Given the description of an element on the screen output the (x, y) to click on. 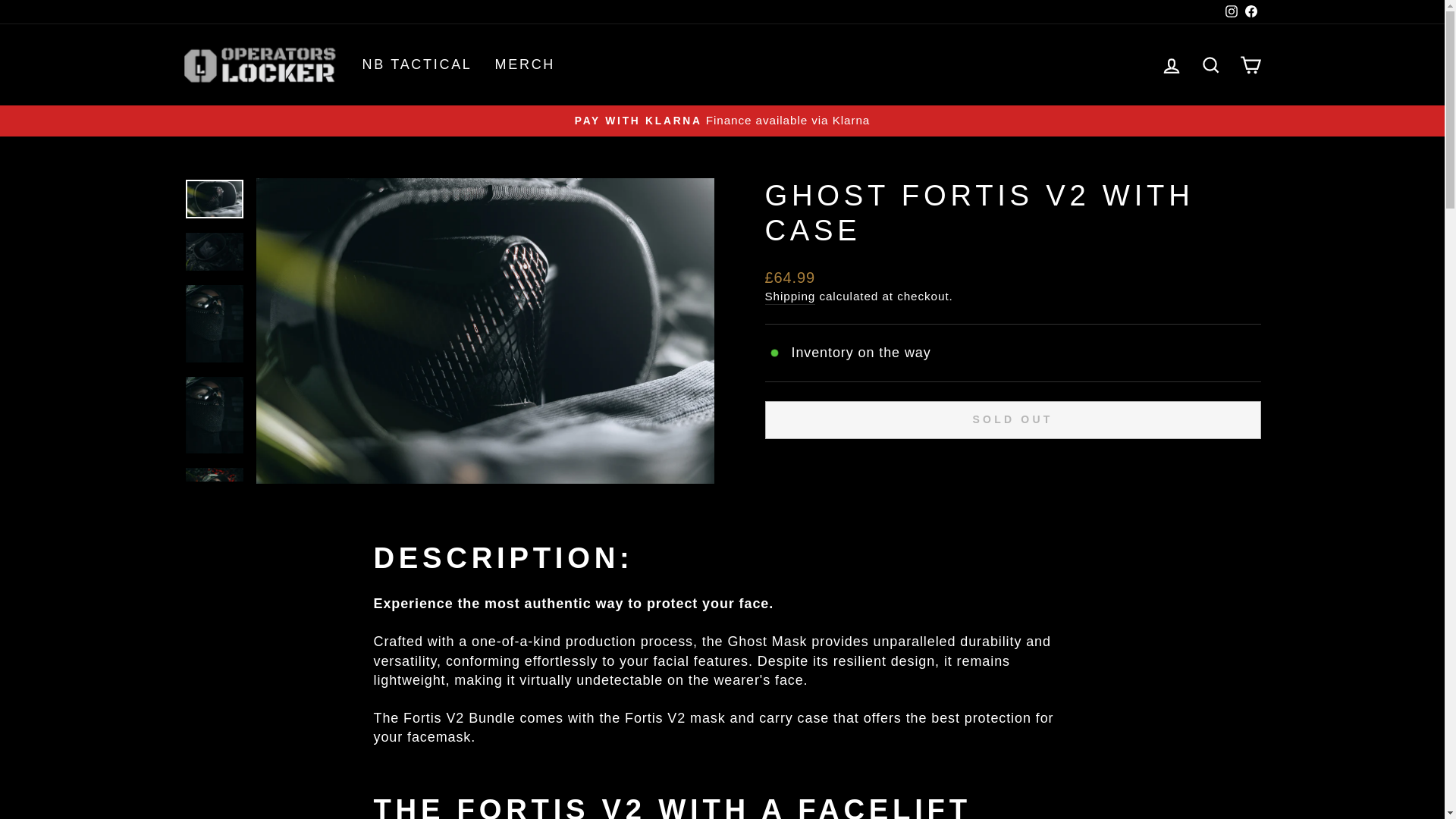
ICON-SEARCH (1210, 65)
MERCH (1171, 64)
NB TACTICAL (1210, 64)
Shipping (525, 64)
SOLD OUT (416, 64)
instagram (789, 296)
CART (1012, 419)
ACCOUNT (1231, 10)
